Given the description of an element on the screen output the (x, y) to click on. 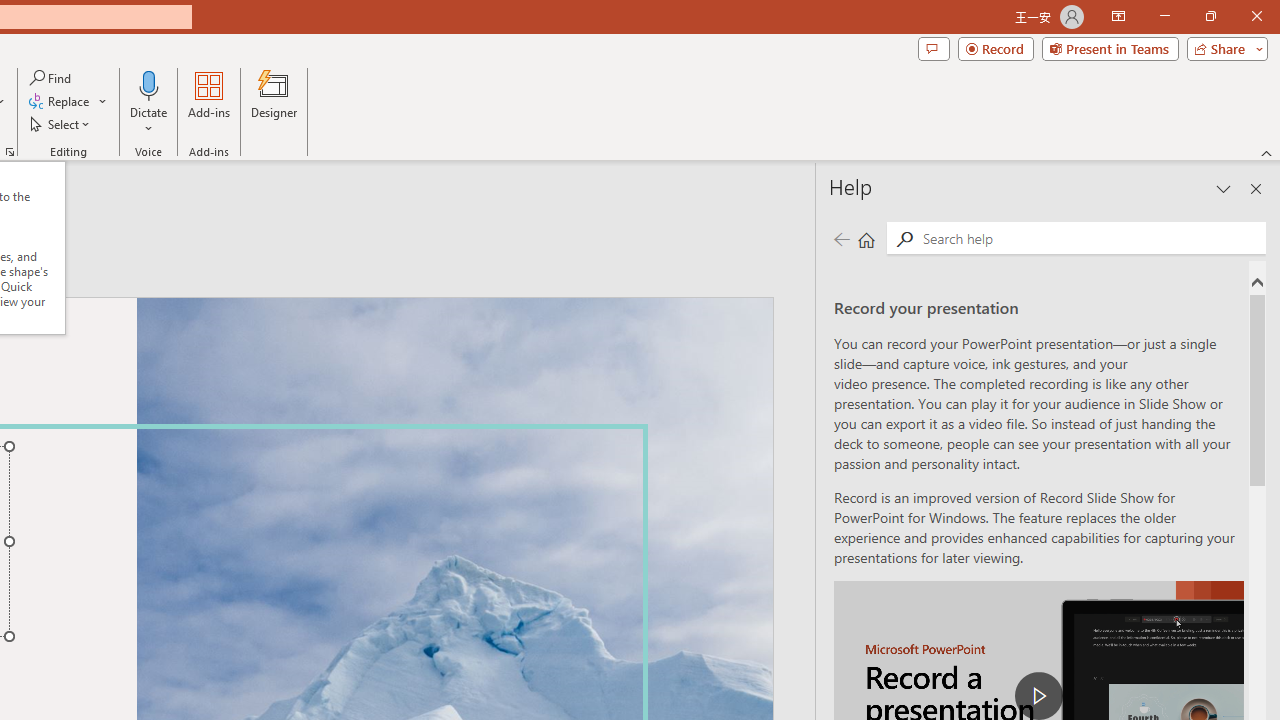
Previous page (841, 238)
Find... (51, 78)
